Given the description of an element on the screen output the (x, y) to click on. 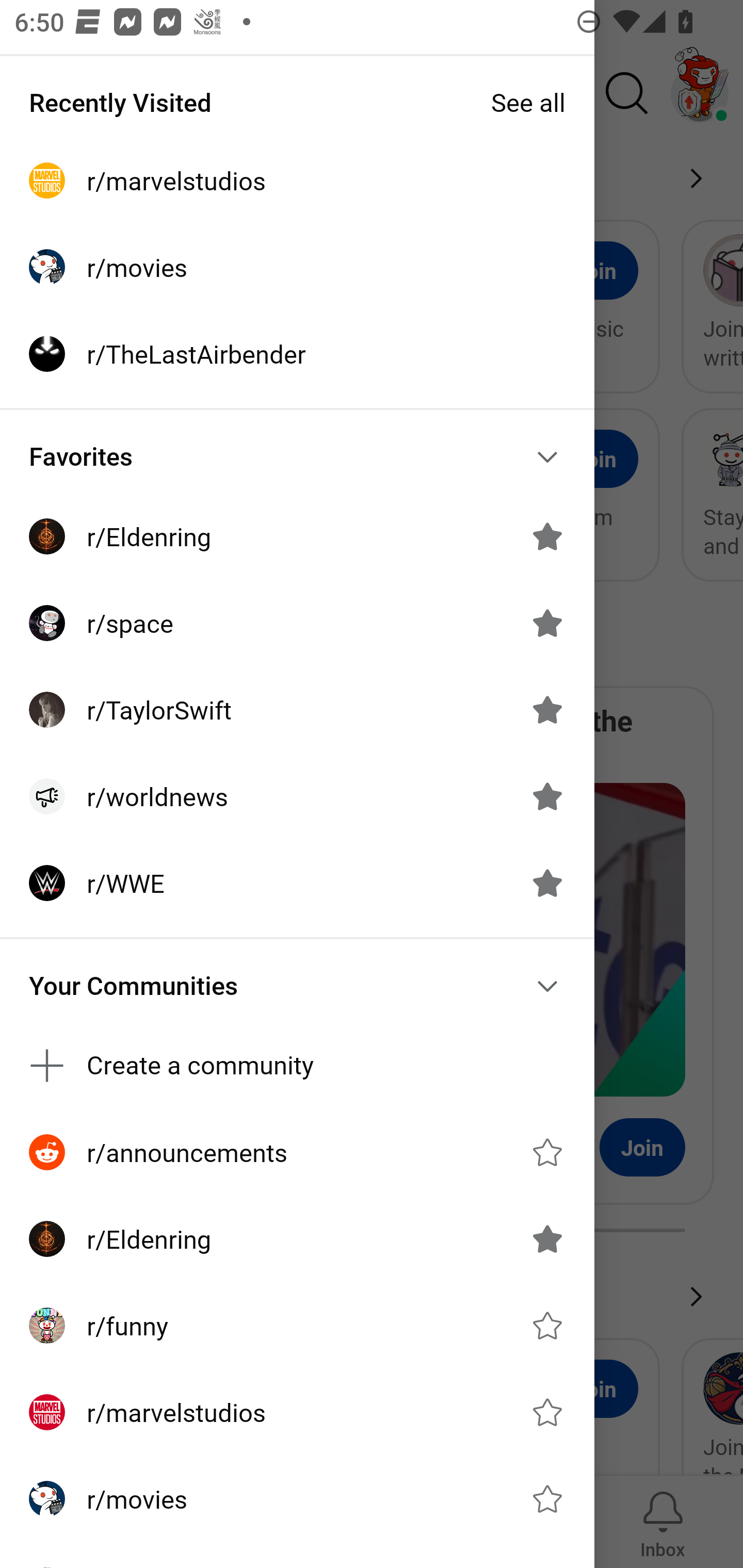
Recently Visited See all (297, 102)
See all (528, 102)
r/marvelstudios (297, 180)
r/movies (297, 267)
r/TheLastAirbender (297, 353)
Favorites (297, 456)
r/Eldenring Unfavorite r/Eldenring (297, 536)
Unfavorite r/Eldenring (546, 536)
r/space Unfavorite r/space (297, 623)
Unfavorite r/space (546, 623)
r/TaylorSwift Unfavorite r/TaylorSwift (297, 709)
Unfavorite r/TaylorSwift (546, 709)
r/worldnews Unfavorite r/worldnews (297, 796)
Unfavorite r/worldnews (546, 796)
r/WWE Unfavorite r/WWE (297, 883)
Unfavorite r/WWE (546, 882)
Your Communities (297, 986)
Create a community (297, 1065)
r/announcements Favorite r/announcements (297, 1151)
Favorite r/announcements (546, 1152)
r/Eldenring Unfavorite r/Eldenring (297, 1238)
Unfavorite r/Eldenring (546, 1238)
r/funny Favorite r/funny (297, 1325)
Favorite r/funny (546, 1325)
r/marvelstudios Favorite r/marvelstudios (297, 1411)
Favorite r/marvelstudios (546, 1411)
r/movies Favorite r/movies (297, 1498)
Favorite r/movies (546, 1498)
